Given the description of an element on the screen output the (x, y) to click on. 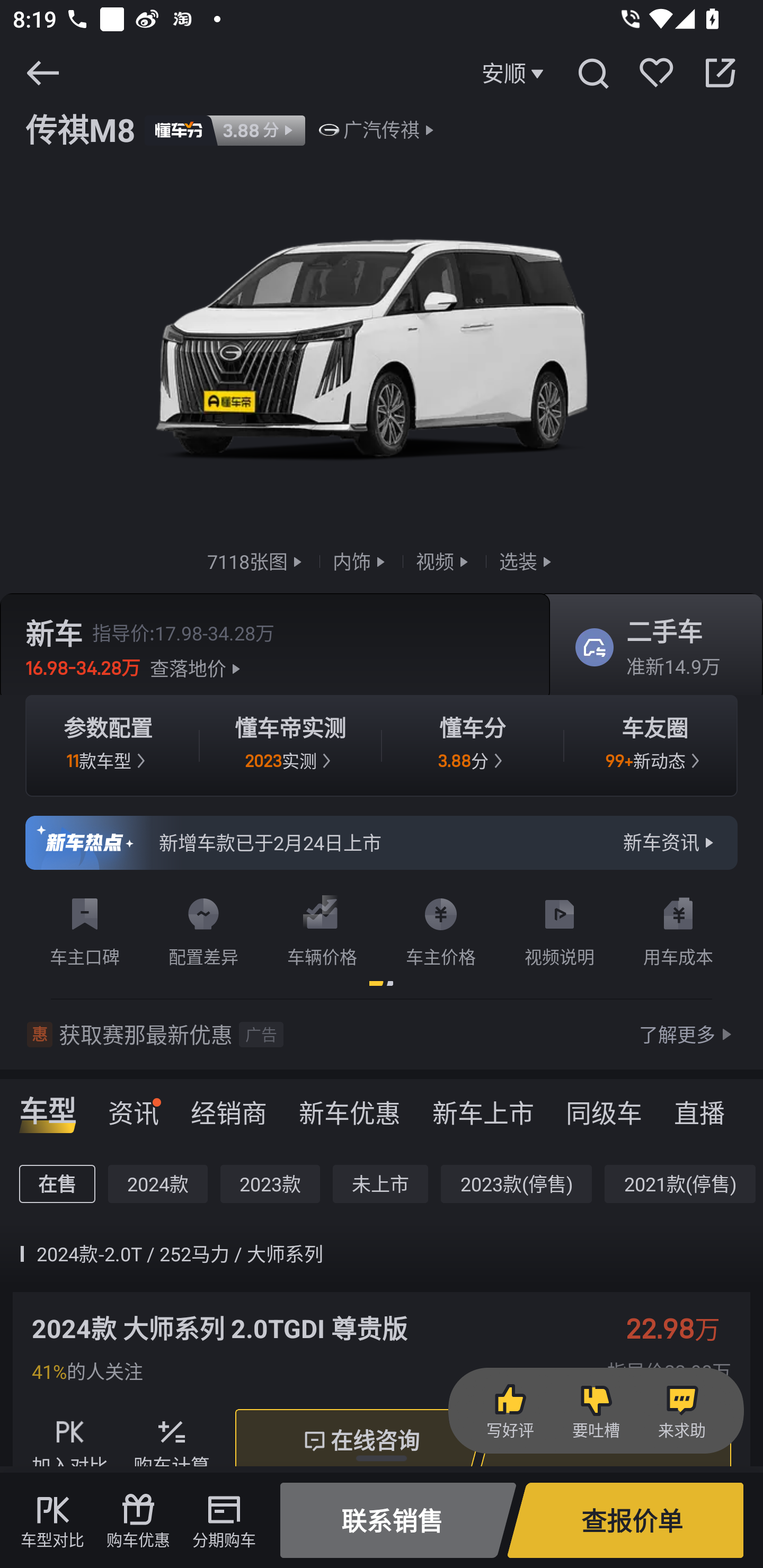
 (42, 72)
 (592, 72)
 (720, 72)
安顺 (514, 73)
广汽传祺 (381, 130)
7118张图 (256, 560)
内饰 (360, 560)
视频 (444, 560)
选装 (527, 560)
二手车 准新14.9万 (650, 646)
指导价:17.98-34.28万 (183, 632)
查落地价 (197, 667)
参数配置 11 款车型  (107, 745)
懂车帝实测 2023 实测  (290, 745)
懂车分 3.88 分  (472, 745)
车友圈 99+ 新动态  (654, 745)
新增车款已于2月24日上市 新车资讯 (381, 842)
车主口碑 (84, 929)
配置差异 (203, 929)
车辆价格 (321, 929)
车主价格 (440, 929)
视频说明 (559, 929)
用车成本 (677, 929)
惠 获取赛那最新优惠 广告 了解更多  (381, 1034)
车型 (47, 1106)
资讯 (133, 1106)
经销商 (228, 1106)
新车优惠 (349, 1106)
新车上市 (483, 1106)
同级车 (604, 1106)
直播 (698, 1106)
在售 (57, 1183)
2024款 (157, 1183)
2023款 (269, 1183)
未上市 (380, 1183)
2023款(停售) (516, 1183)
2021款(停售) (679, 1183)
22.98 万 (682, 1327)
写好评 (510, 1410)
要吐槽 (595, 1410)
来求助 (681, 1410)
加入对比 (70, 1440)
 购车计算 (171, 1440)
在线咨询 (360, 1440)
车型对比 (52, 1520)
购车优惠 (138, 1520)
分期购车 (224, 1520)
联系销售 (398, 1519)
查报价单 (625, 1519)
